Given the description of an element on the screen output the (x, y) to click on. 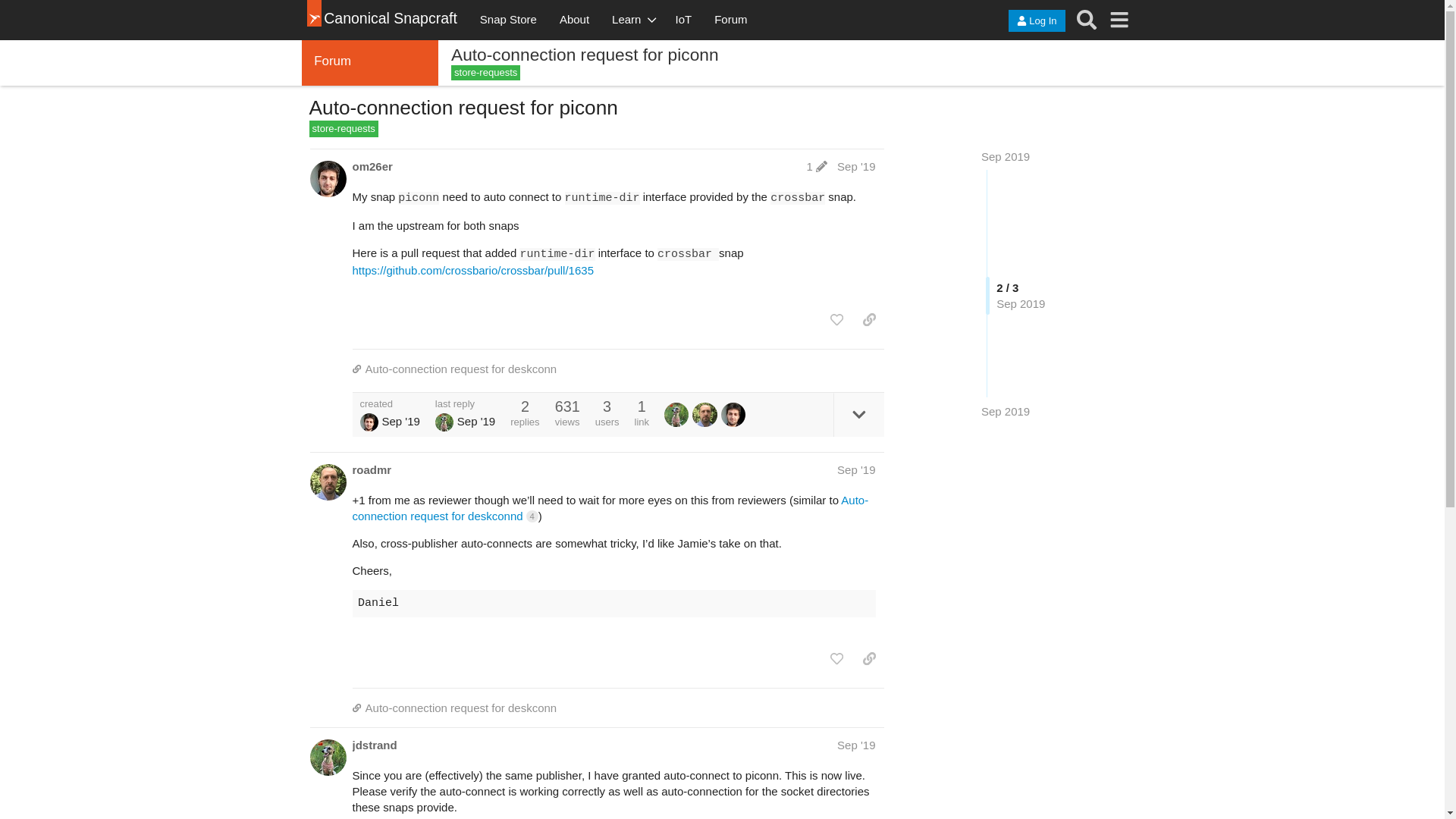
Log In (1036, 20)
expand topic details (857, 414)
Sep 2019 (1005, 411)
Search (1086, 19)
post last edited on Sep 24, 2019 3:48 am (816, 165)
om26er (371, 166)
IoT (683, 20)
Omer Akram (368, 422)
Learn (631, 20)
store-requests (343, 128)
Forum (730, 20)
Post date (856, 165)
Sep 2019 (1005, 155)
